Given the description of an element on the screen output the (x, y) to click on. 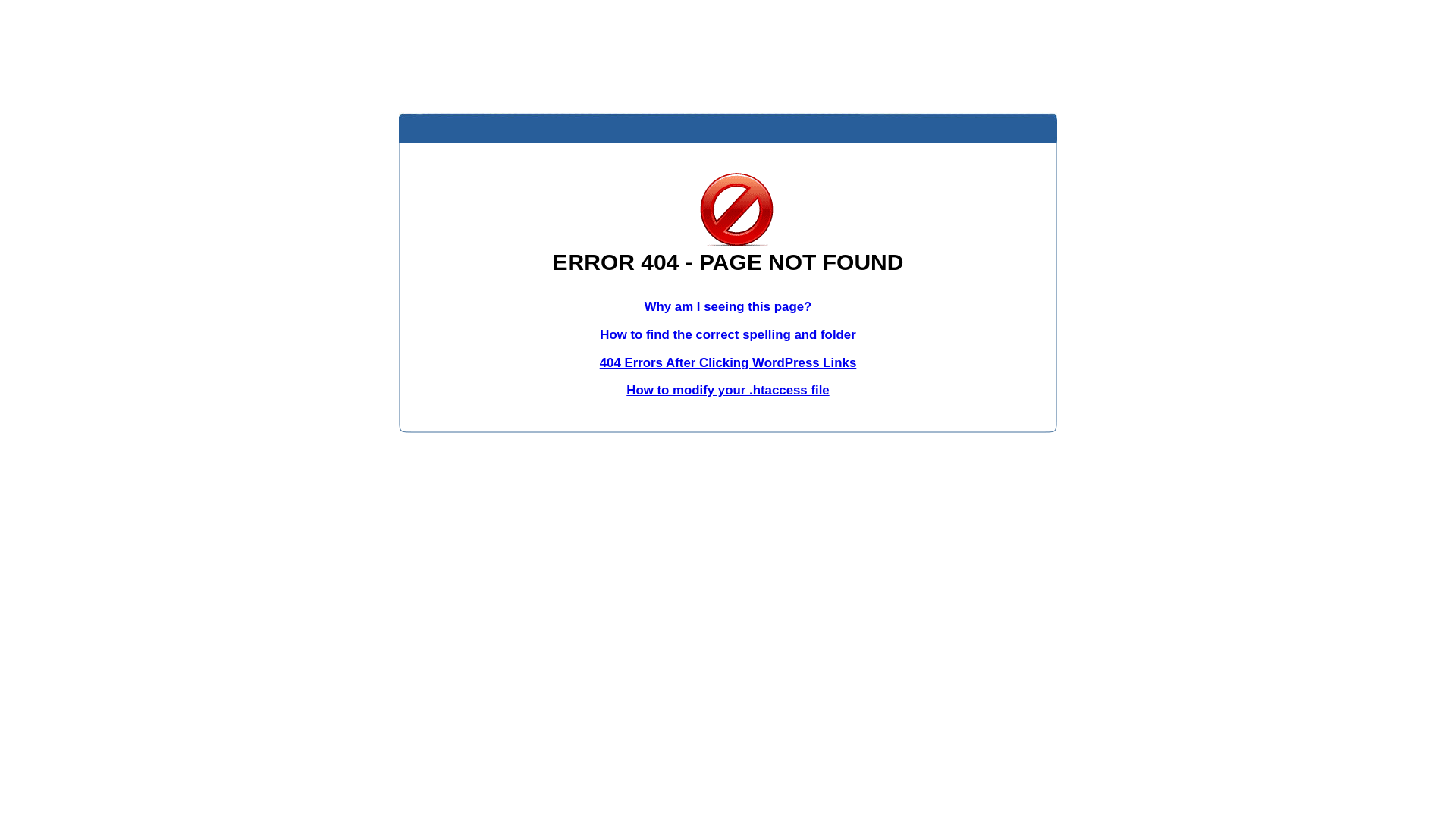
Why am I seeing this page? Element type: text (728, 306)
404 Errors After Clicking WordPress Links Element type: text (727, 362)
How to find the correct spelling and folder Element type: text (727, 334)
How to modify your .htaccess file Element type: text (727, 389)
